Given the description of an element on the screen output the (x, y) to click on. 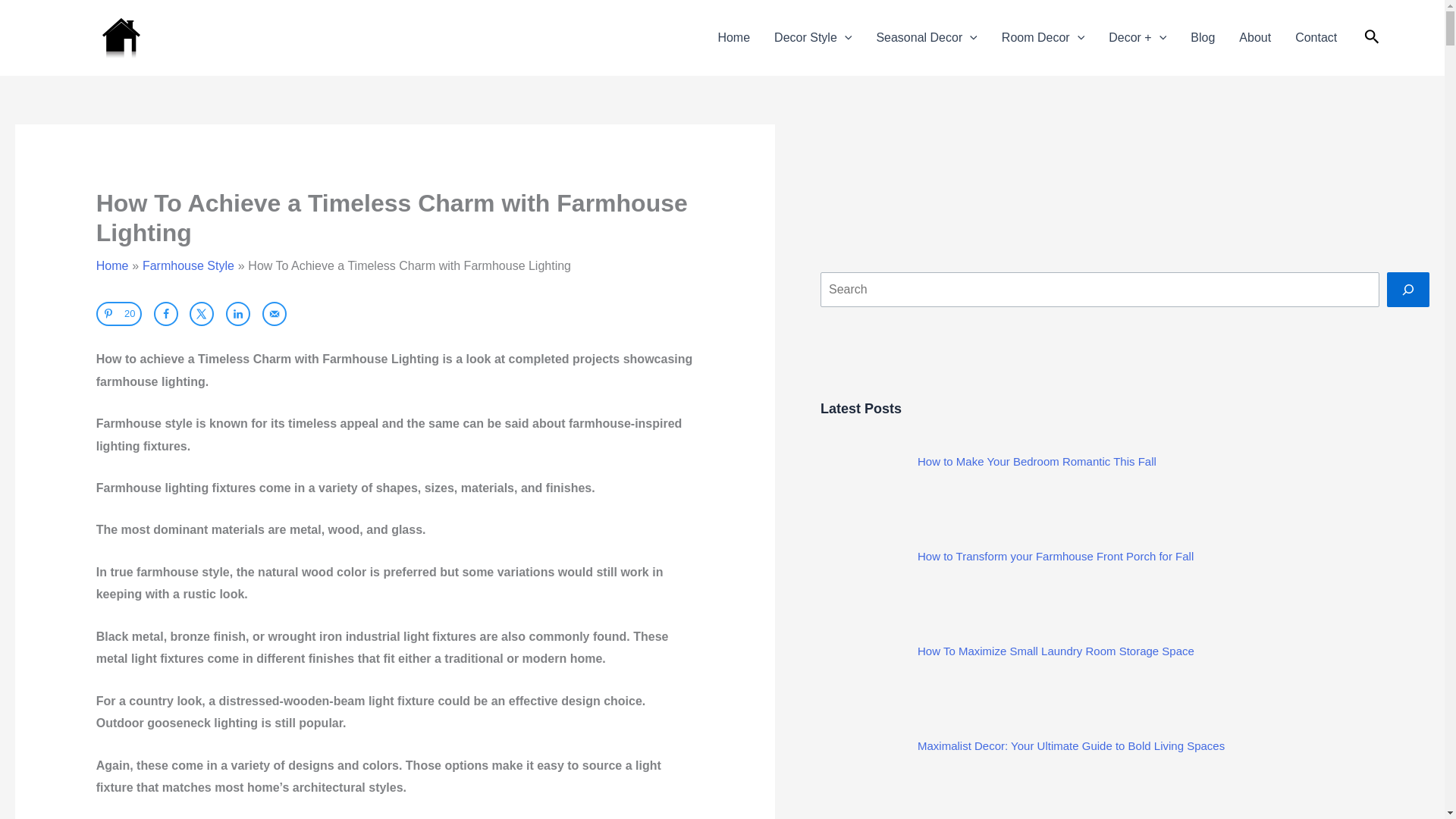
Share on X (201, 313)
Save to Pinterest (118, 313)
Share on LinkedIn (237, 313)
Decor Style (812, 38)
Send over email (274, 313)
Seasonal Decor (925, 38)
Share on Facebook (165, 313)
Room Decor (1043, 38)
